Given the description of an element on the screen output the (x, y) to click on. 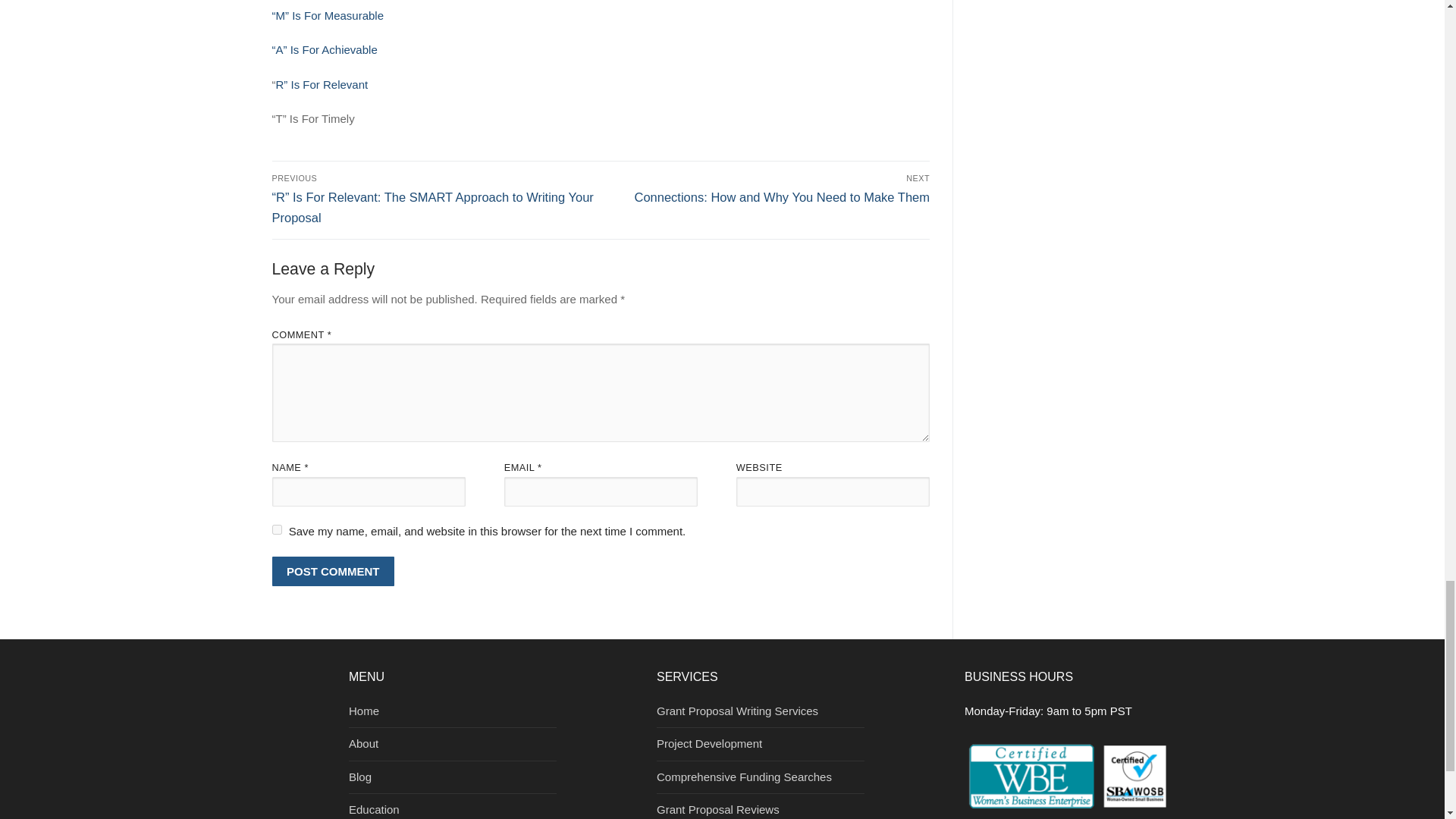
Post Comment (332, 571)
yes (275, 529)
